Given the description of an element on the screen output the (x, y) to click on. 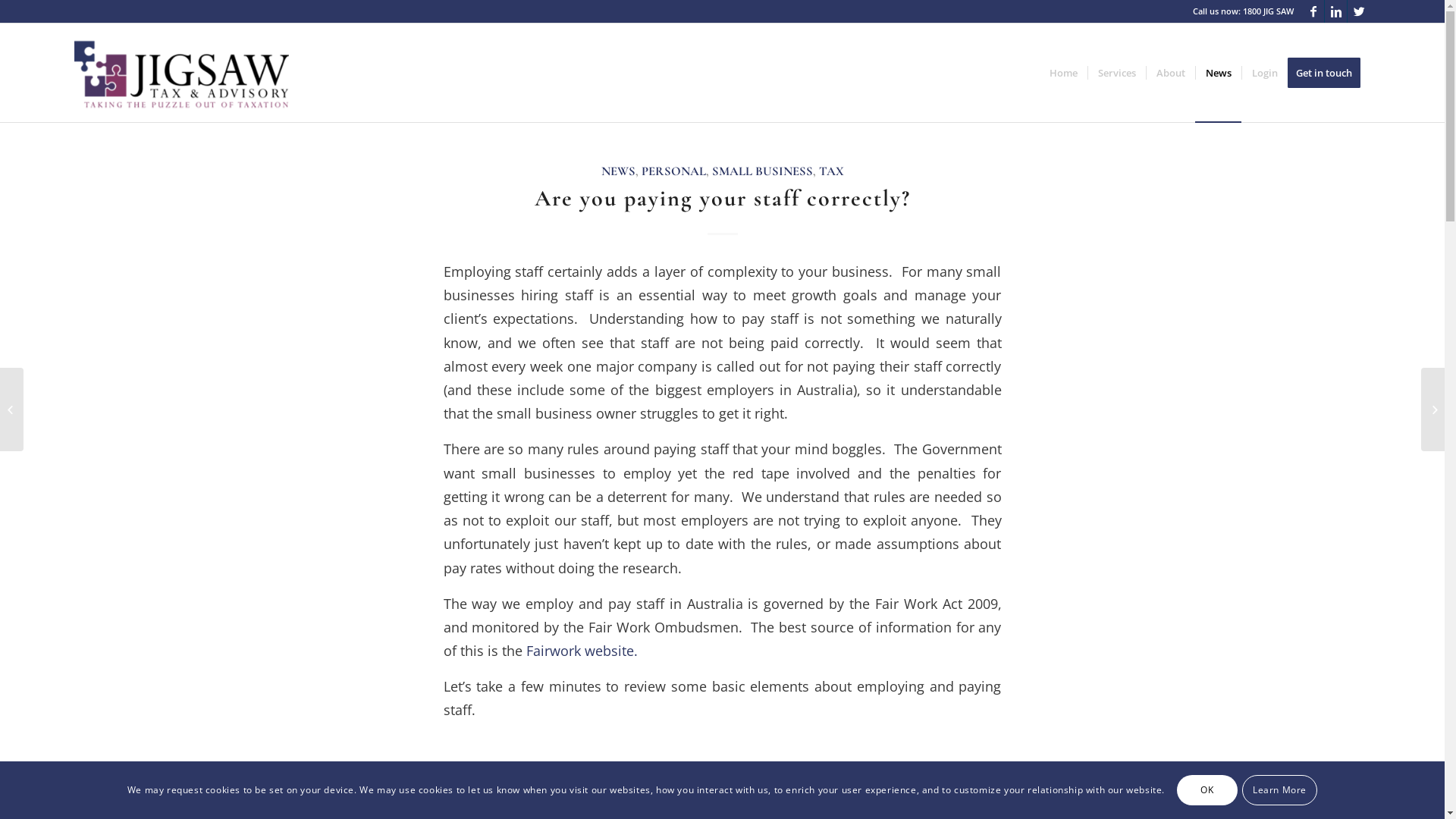
OK Element type: text (1206, 790)
Facebook Element type: hover (1313, 11)
PERSONAL Element type: text (673, 170)
News Element type: text (1218, 72)
Learn More Element type: text (1279, 790)
Services Element type: text (1116, 72)
Get in touch Element type: text (1328, 72)
About Element type: text (1170, 72)
NEWS Element type: text (617, 170)
Fairwork website. Element type: text (581, 649)
SMALL BUSINESS Element type: text (761, 170)
Twitter Element type: hover (1358, 11)
Are you paying your staff correctly? Element type: text (721, 198)
Home Element type: text (1063, 72)
Linkedin Element type: hover (1335, 11)
TAX Element type: text (831, 170)
Login Element type: text (1264, 72)
